Given the description of an element on the screen output the (x, y) to click on. 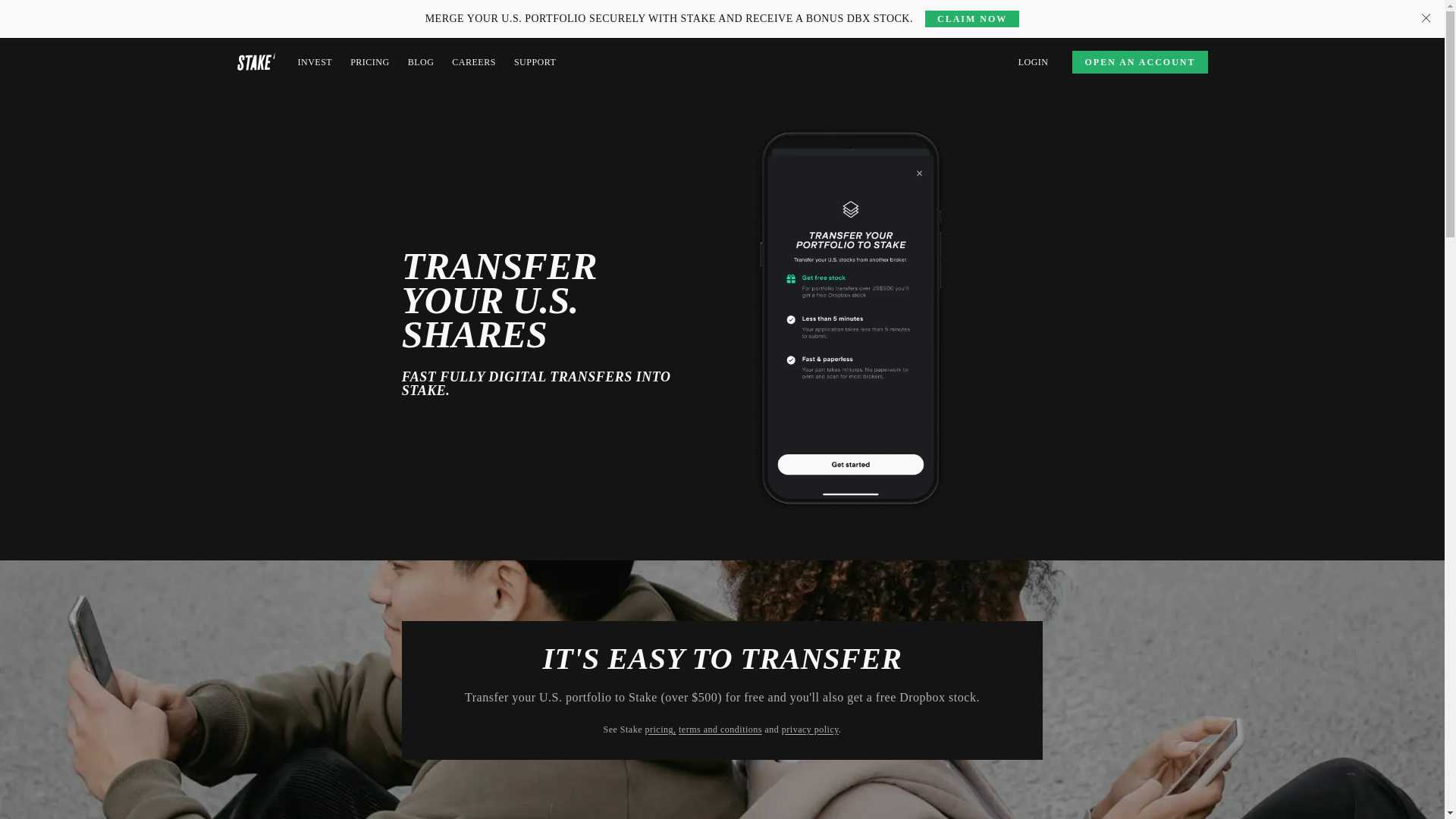
SUPPORT (534, 61)
CLAIM NOW (971, 18)
terms and conditions (719, 728)
PRICING (370, 61)
INVEST (314, 61)
OPEN AN ACCOUNT (1139, 61)
BLOG (420, 61)
LOGIN (1032, 61)
CAREERS (473, 61)
privacy policy (809, 728)
